Given the description of an element on the screen output the (x, y) to click on. 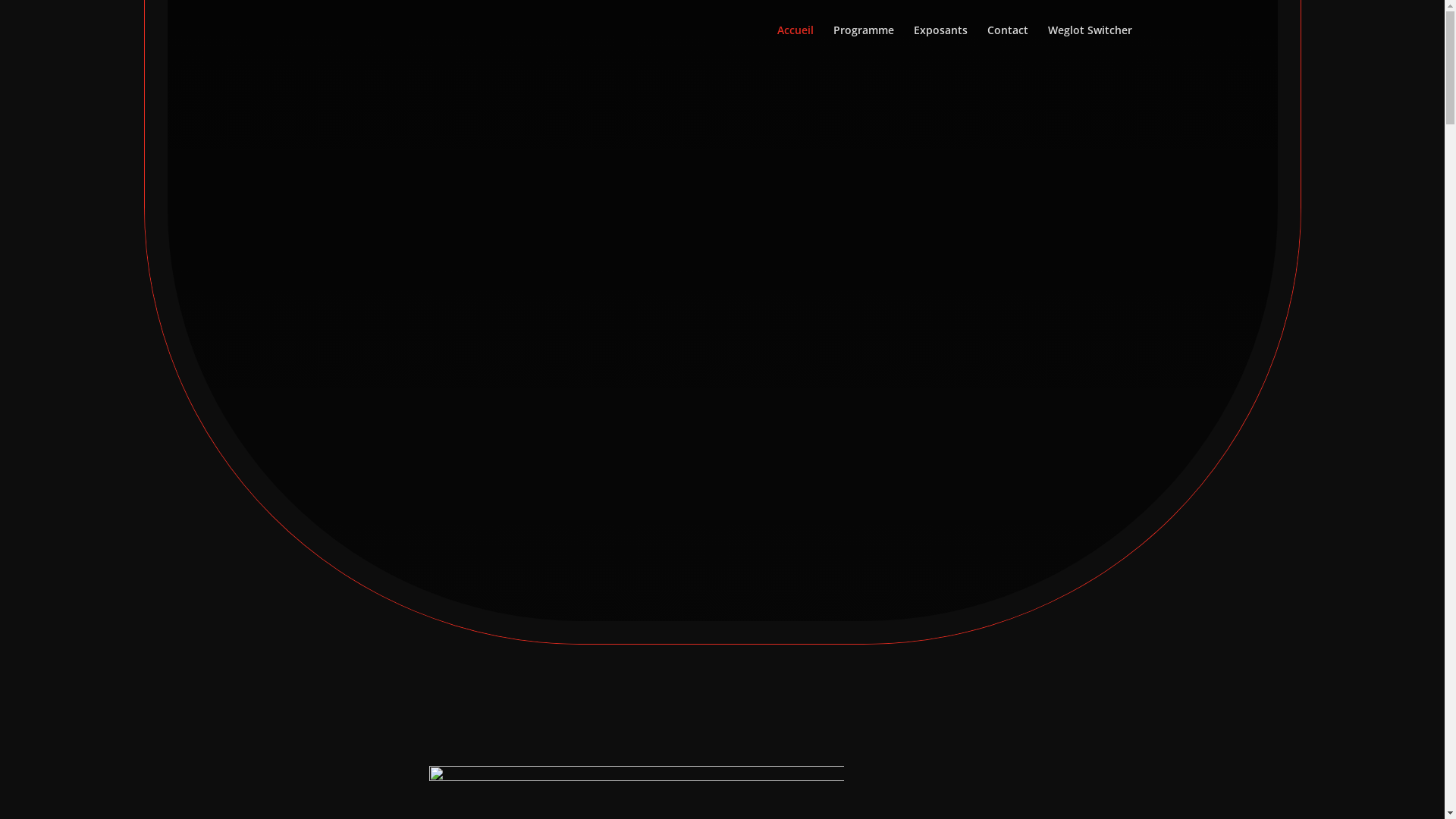
Programme Element type: text (862, 42)
Contact Element type: text (1007, 42)
Weglot Switcher Element type: text (1090, 42)
Exposants Element type: text (939, 42)
Accueil Element type: text (794, 42)
